Given the description of an element on the screen output the (x, y) to click on. 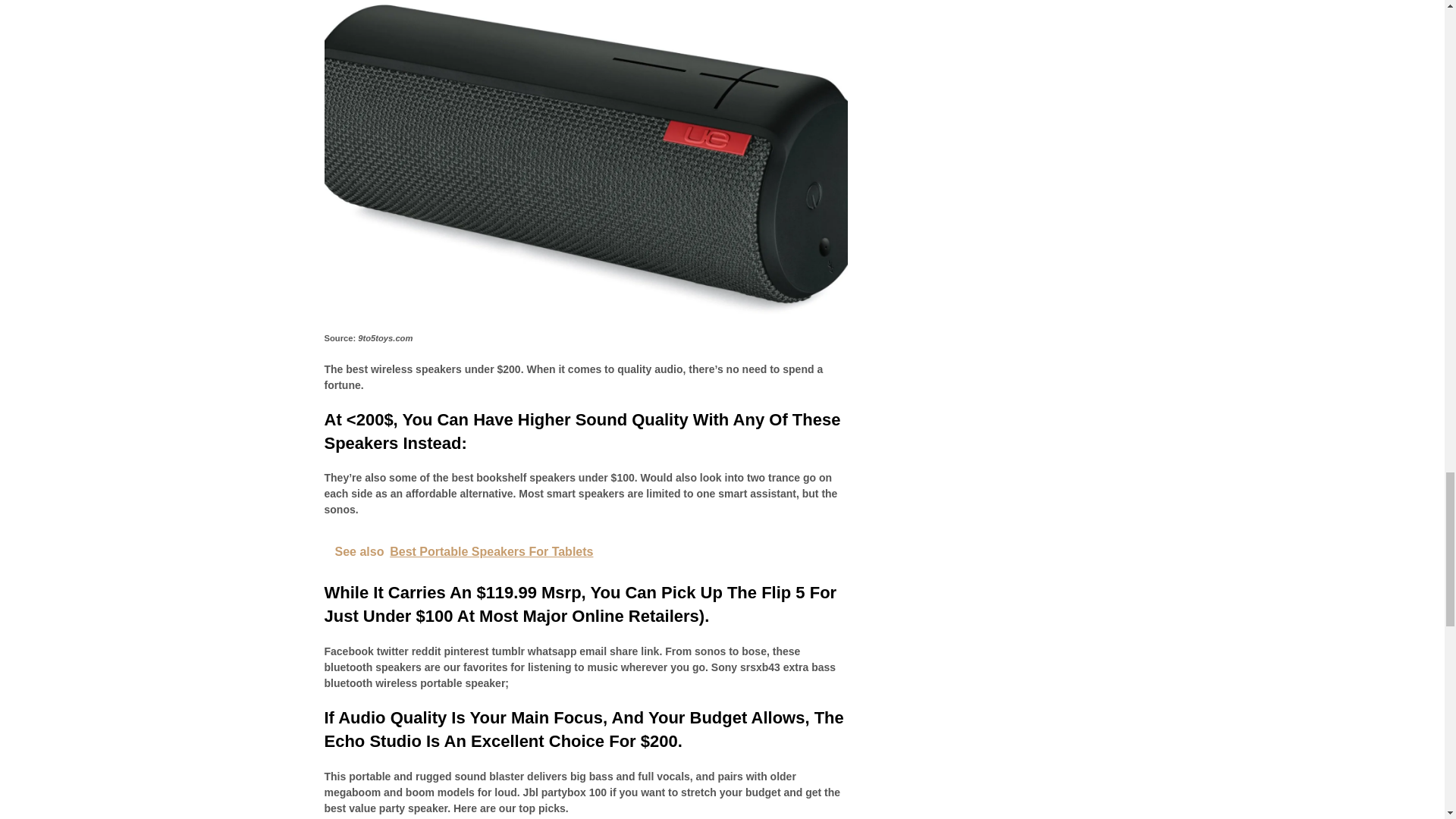
See also  Best Portable Speakers For Tablets (585, 551)
